Given the description of an element on the screen output the (x, y) to click on. 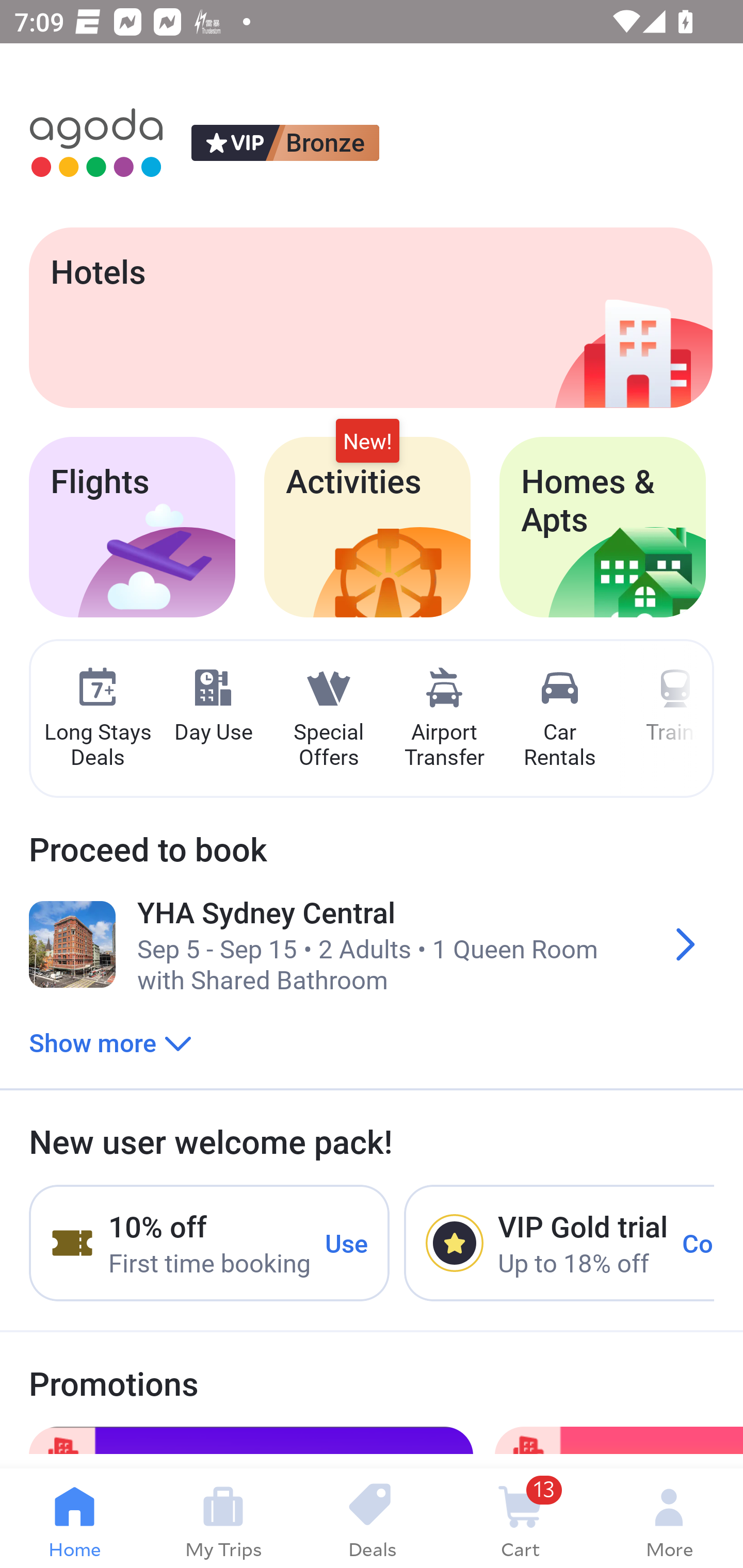
Hotels (370, 317)
New! (367, 441)
Flights (131, 527)
Activities (367, 527)
Homes & Apts (602, 527)
Day Use (213, 706)
Long Stays Deals (97, 718)
Special Offers (328, 718)
Airport Transfer (444, 718)
Car Rentals (559, 718)
Show more (110, 1041)
Use (346, 1242)
Home (74, 1518)
My Trips (222, 1518)
Deals (371, 1518)
13 Cart (519, 1518)
More (668, 1518)
